Given the description of an element on the screen output the (x, y) to click on. 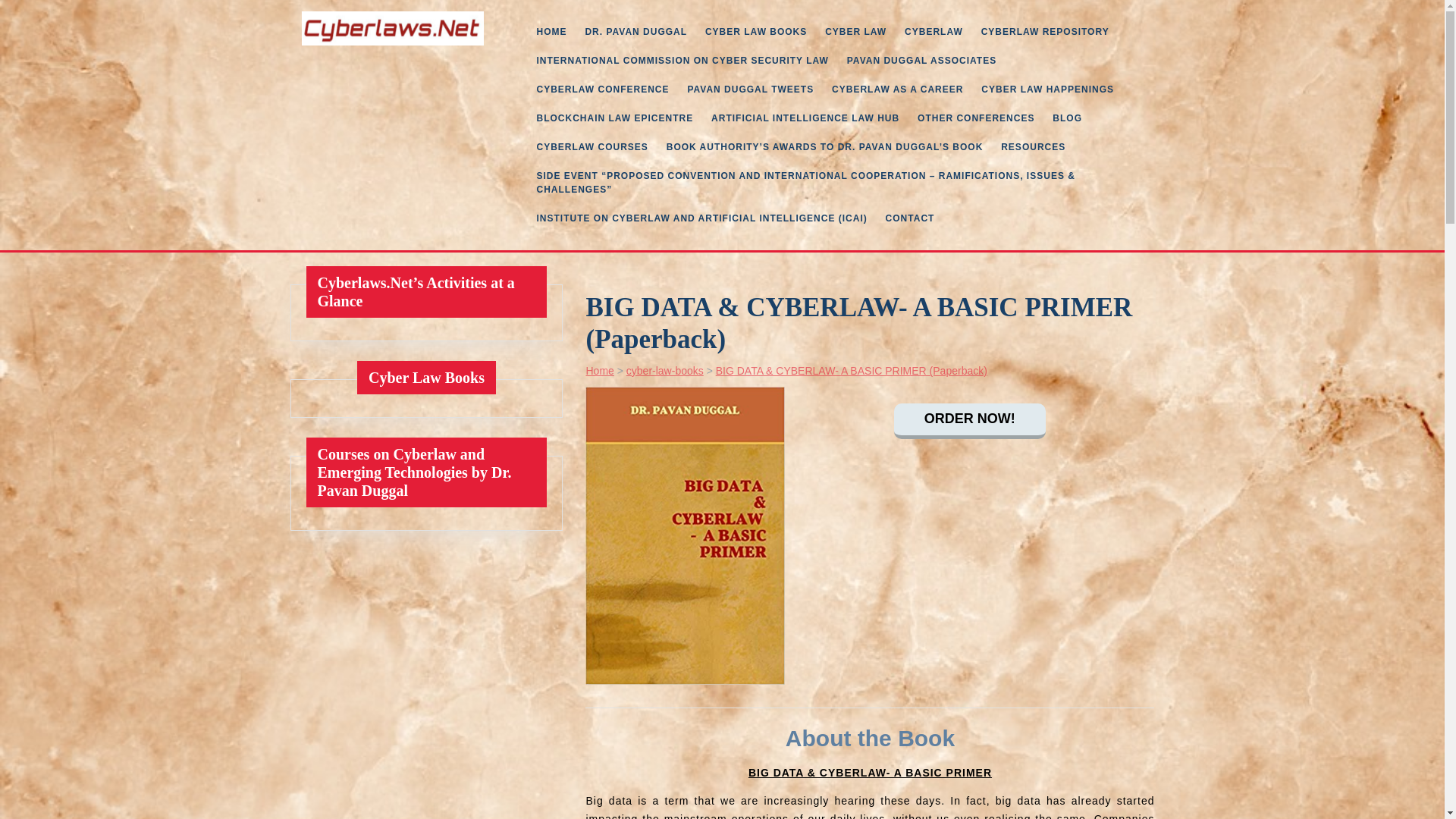
HOME (552, 31)
PAVAN DUGGAL TWEETS (750, 89)
PAVAN DUGGAL ASSOCIATES (922, 60)
CYBERLAW (933, 31)
INTERNATIONAL COMMISSION ON CYBER SECURITY LAW (682, 60)
CYBER LAW (854, 31)
DR. PAVAN DUGGAL (635, 31)
CYBERLAW AS A CAREER (897, 89)
BLOCKCHAIN LAW EPICENTRE (615, 118)
ARTIFICIAL INTELLIGENCE LAW HUB (805, 118)
